Given the description of an element on the screen output the (x, y) to click on. 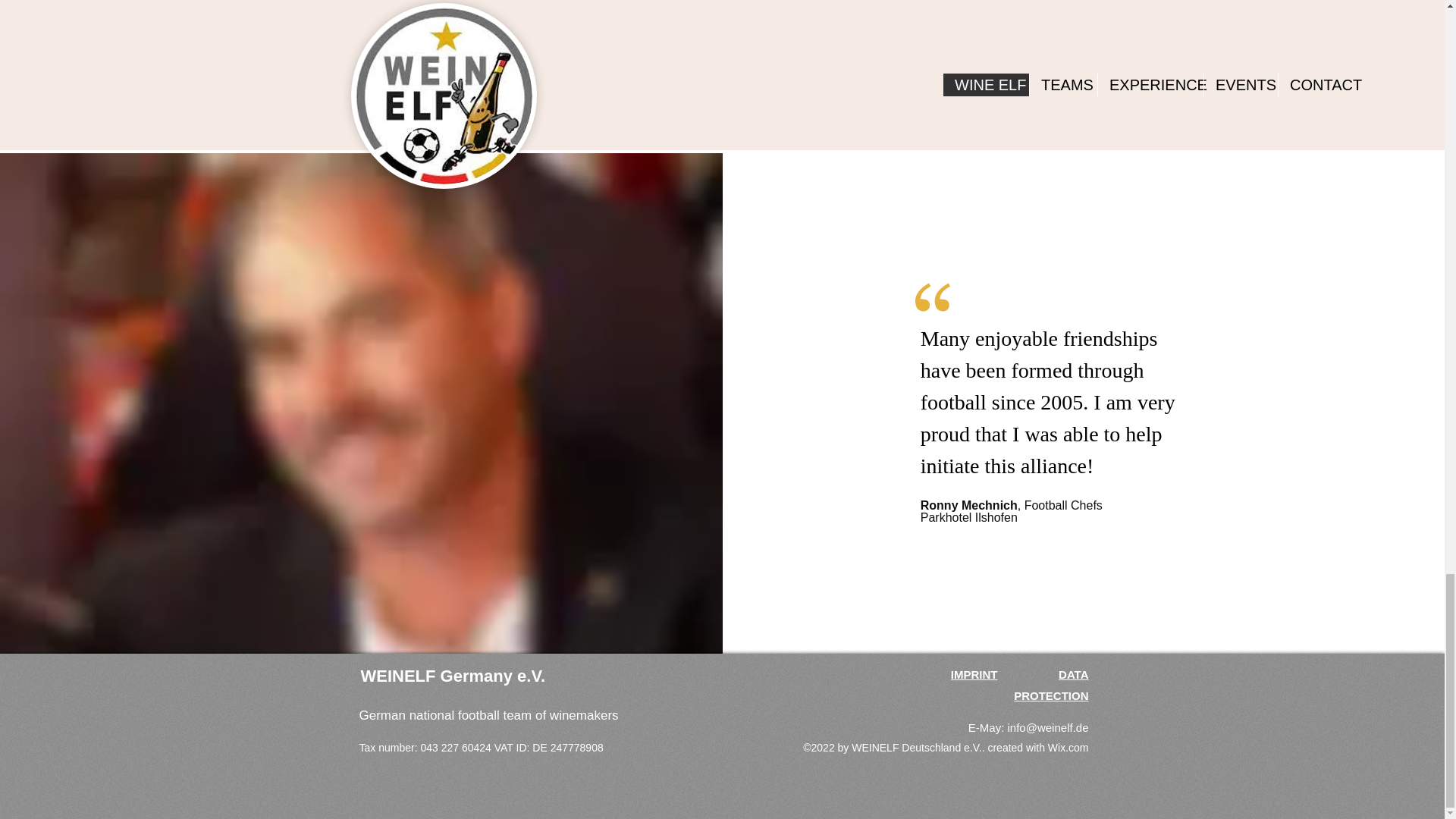
DATA PROTECTION (1050, 684)
We are European champions!!! (471, 37)
IMPRINT (973, 674)
